Given the description of an element on the screen output the (x, y) to click on. 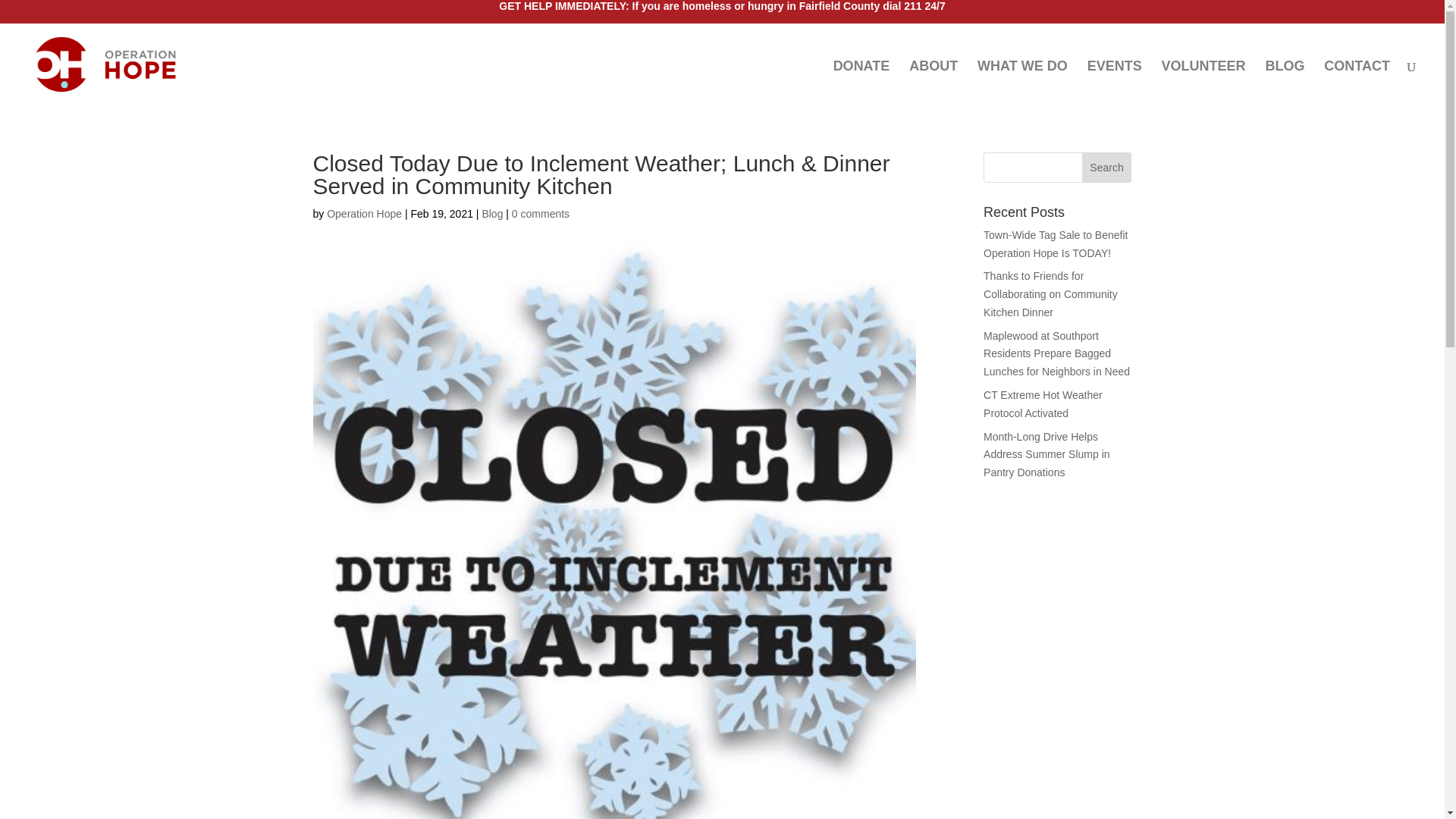
Blog (491, 214)
CONTACT (1356, 84)
CT Extreme Hot Weather Protocol Activated (1043, 404)
Search (1106, 167)
WHAT WE DO (1021, 84)
EVENTS (1114, 84)
Operation Hope (363, 214)
0 comments (540, 214)
Search (1106, 167)
Town-Wide Tag Sale to Benefit Operation Hope Is TODAY! (1055, 244)
ABOUT (933, 84)
Posts by Operation Hope (363, 214)
